Given the description of an element on the screen output the (x, y) to click on. 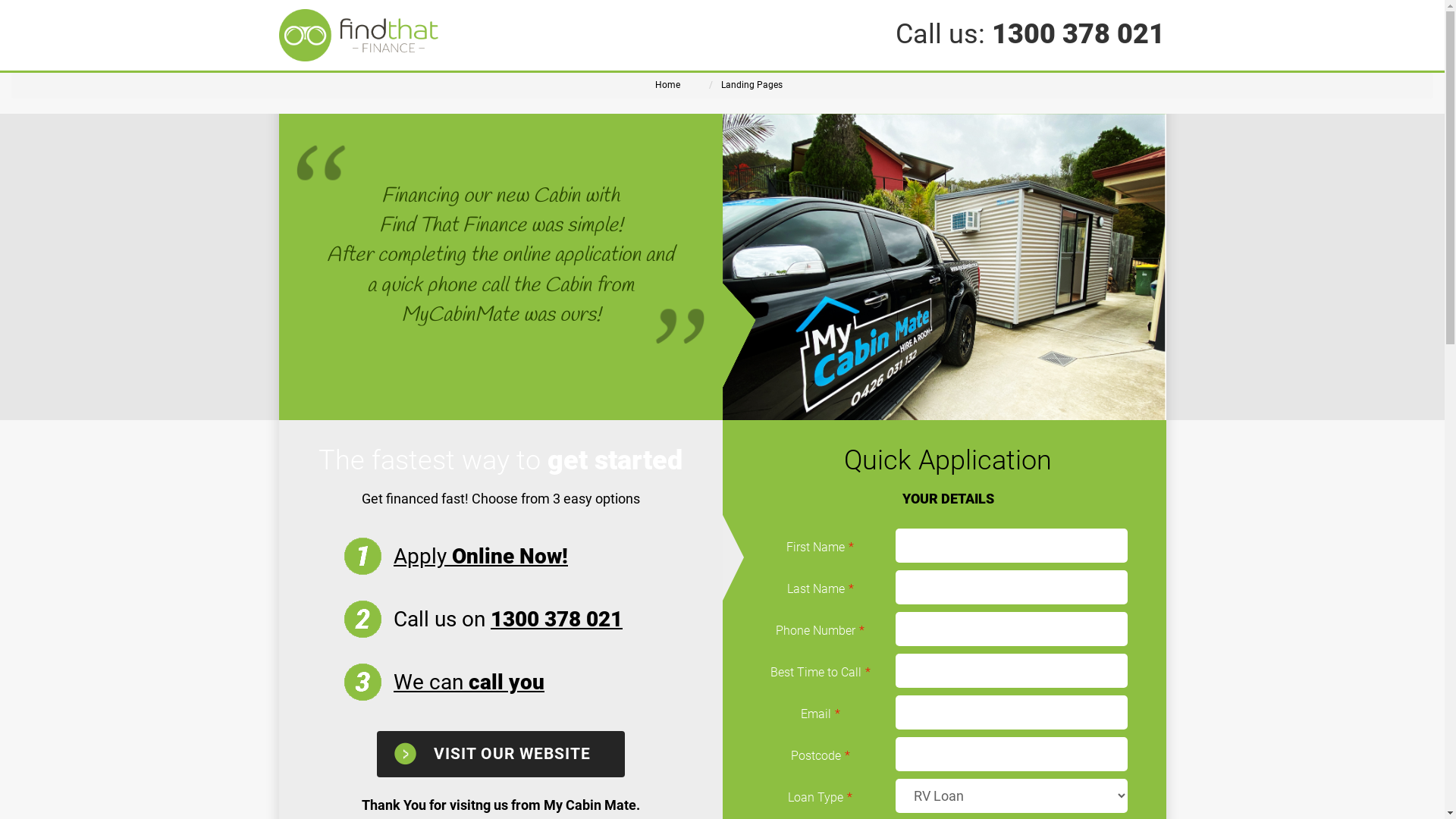
Home Element type: text (667, 84)
VISIT OUR WEBSITE Element type: text (500, 754)
1300 378 021 Element type: text (556, 618)
We can call you Element type: text (468, 681)
Landing Pages Element type: text (750, 84)
Call us: 1300 378 021 Element type: text (1029, 34)
Apply Online Now! Element type: text (480, 555)
